Given the description of an element on the screen output the (x, y) to click on. 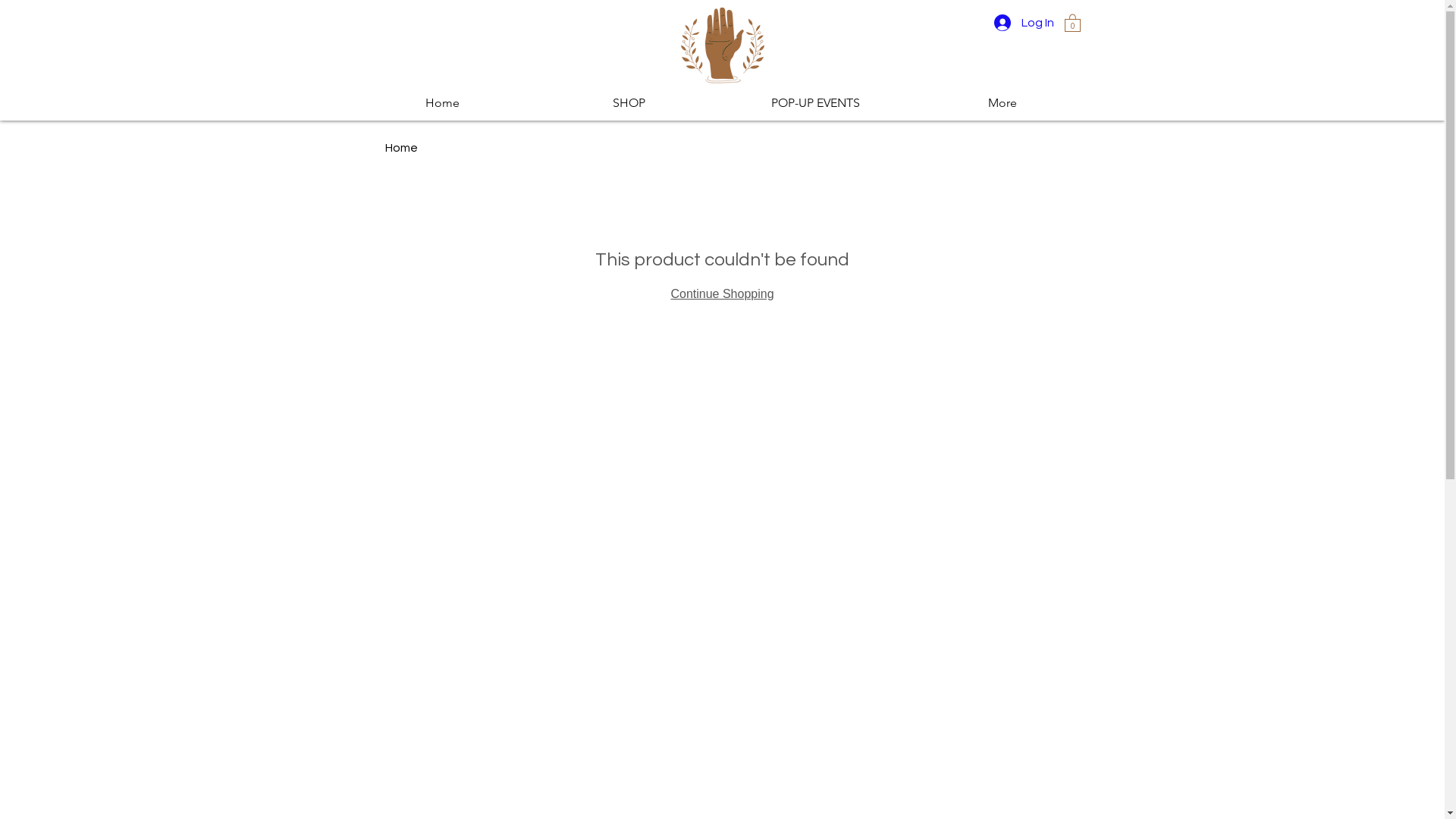
Continue Shopping Element type: text (721, 293)
Log In Element type: text (1022, 22)
SHOP Element type: text (628, 102)
POP-UP EVENTS Element type: text (814, 102)
Home Element type: text (401, 147)
image1.PNG Element type: hover (721, 45)
0 Element type: text (1072, 21)
Home Element type: text (442, 102)
